Given the description of an element on the screen output the (x, y) to click on. 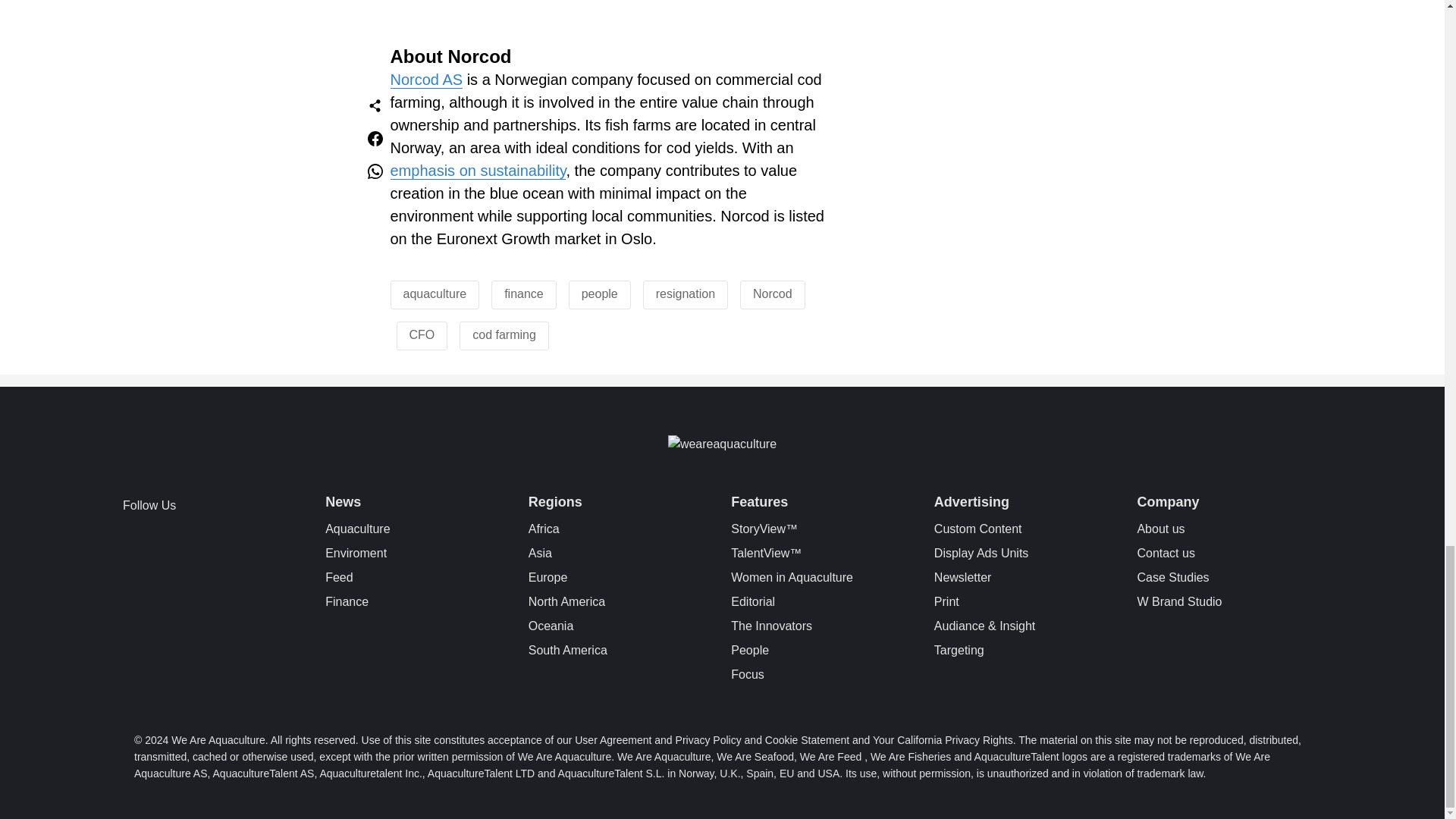
resignation (685, 293)
emphasis on sustainability (478, 170)
Norcod (772, 293)
CFO (422, 334)
Norcod AS (426, 79)
finance (523, 293)
aquaculture (435, 293)
cod farming (503, 334)
people (598, 293)
